Given the description of an element on the screen output the (x, y) to click on. 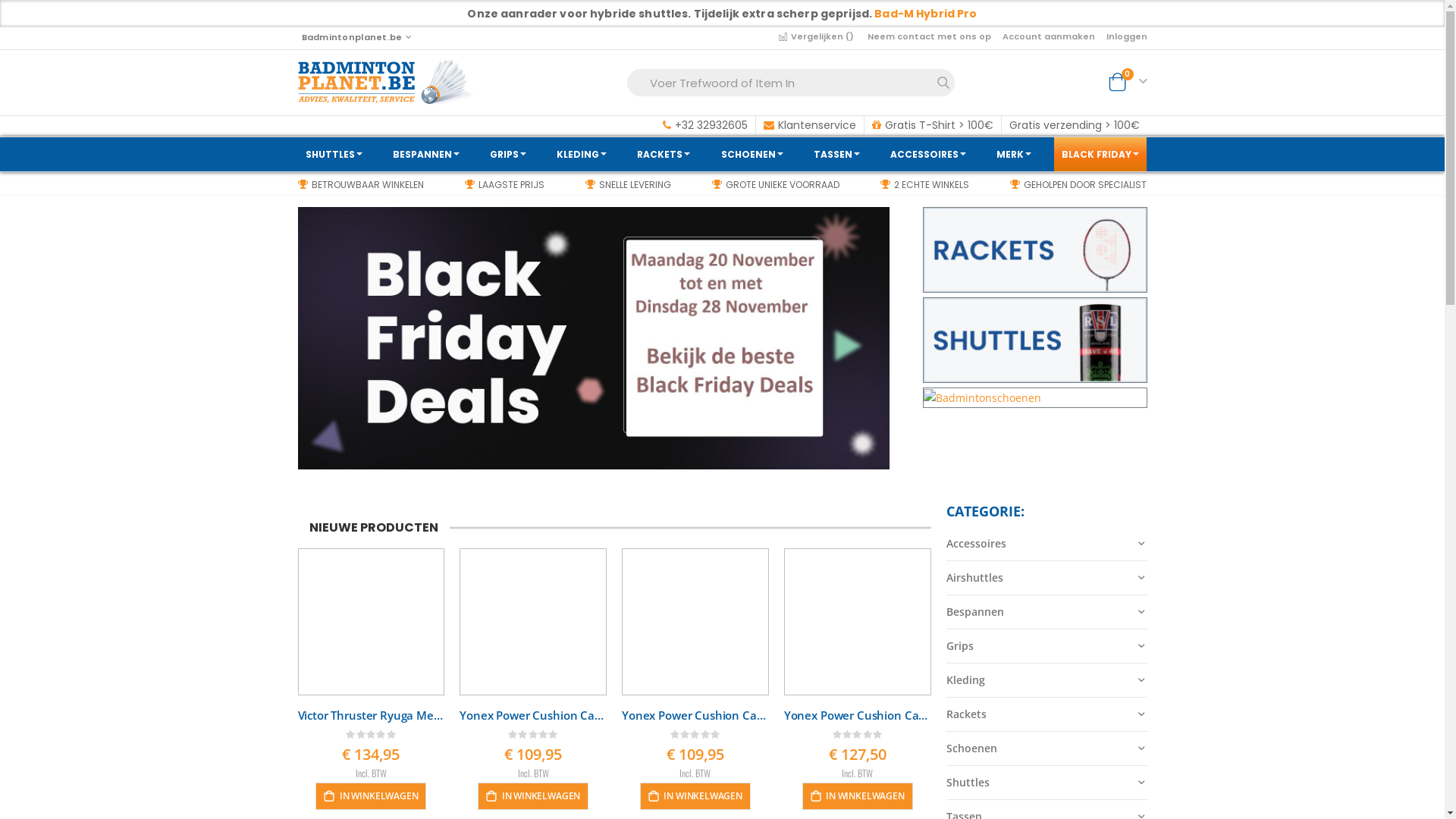
Badmintonplanet.be - Advies, Kwaliteit & Service Element type: hover (385, 82)
IN WINKELWAGEN Element type: text (857, 795)
Victor Thruster Ryuga Metallic C - 3U/G5 Element type: text (370, 714)
Rackets Element type: text (1046, 714)
Yonex Power Cushion Cascade Accel Red Black (Pre-order) Element type: text (694, 714)
Bespannen Element type: text (1046, 612)
Bad-M Hybrid Pro Element type: text (925, 13)
Grips Element type: text (1046, 646)
GRIPS Element type: text (507, 154)
BESPANNEN Element type: text (426, 154)
Airshuttles Element type: text (1046, 578)
+32 32932605 Element type: text (704, 124)
MERK Element type: text (1013, 154)
BLACK FRIDAY Element type: text (1100, 154)
NIEUWE PRODUCTEN Element type: text (372, 527)
Schoenen Element type: text (1046, 748)
ACCESSOIRES Element type: text (927, 154)
KLEDING Element type: text (581, 154)
Cart
0 Element type: text (1126, 81)
Kleding Element type: text (1046, 680)
IN WINKELWAGEN Element type: text (370, 795)
SCHOENEN Element type: text (751, 154)
Neem contact met ons op Element type: text (934, 36)
IN WINKELWAGEN Element type: text (532, 795)
TASSEN Element type: text (836, 154)
Accessoires Element type: text (1046, 544)
Shuttles Element type: text (1046, 782)
SHUTTLES Element type: text (333, 154)
Klantenservice Element type: text (808, 124)
IN WINKELWAGEN Element type: text (695, 795)
Yonex Power Cushion Cascade Drive 2 Element type: text (857, 714)
Account aanmaken Element type: text (1054, 36)
RACKETS Element type: text (663, 154)
Inloggen Element type: text (1125, 36)
Vergelijken () Element type: text (817, 36)
